Given the description of an element on the screen output the (x, y) to click on. 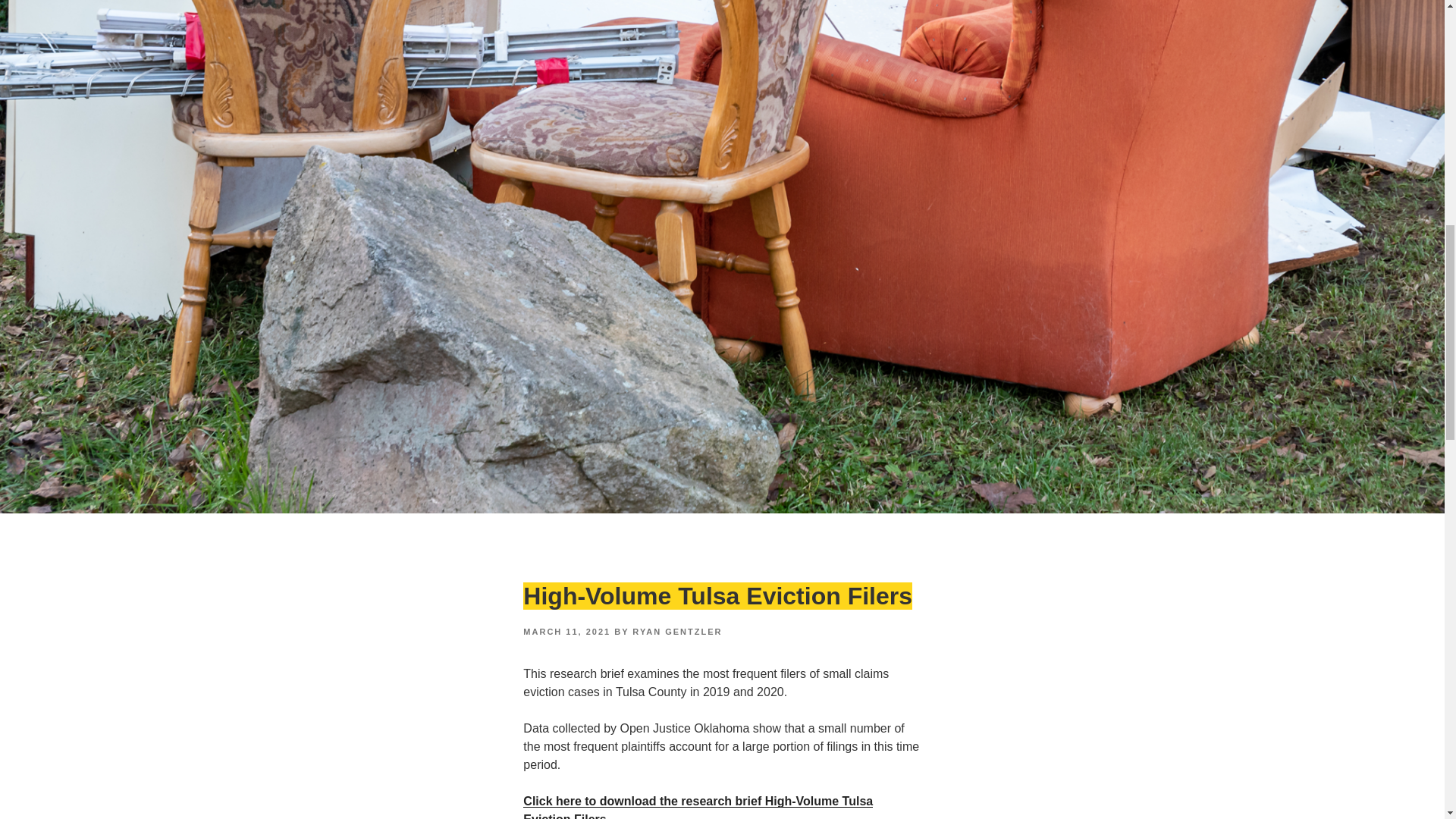
MARCH 11, 2021 (566, 631)
RYAN GENTZLER (676, 631)
